Given the description of an element on the screen output the (x, y) to click on. 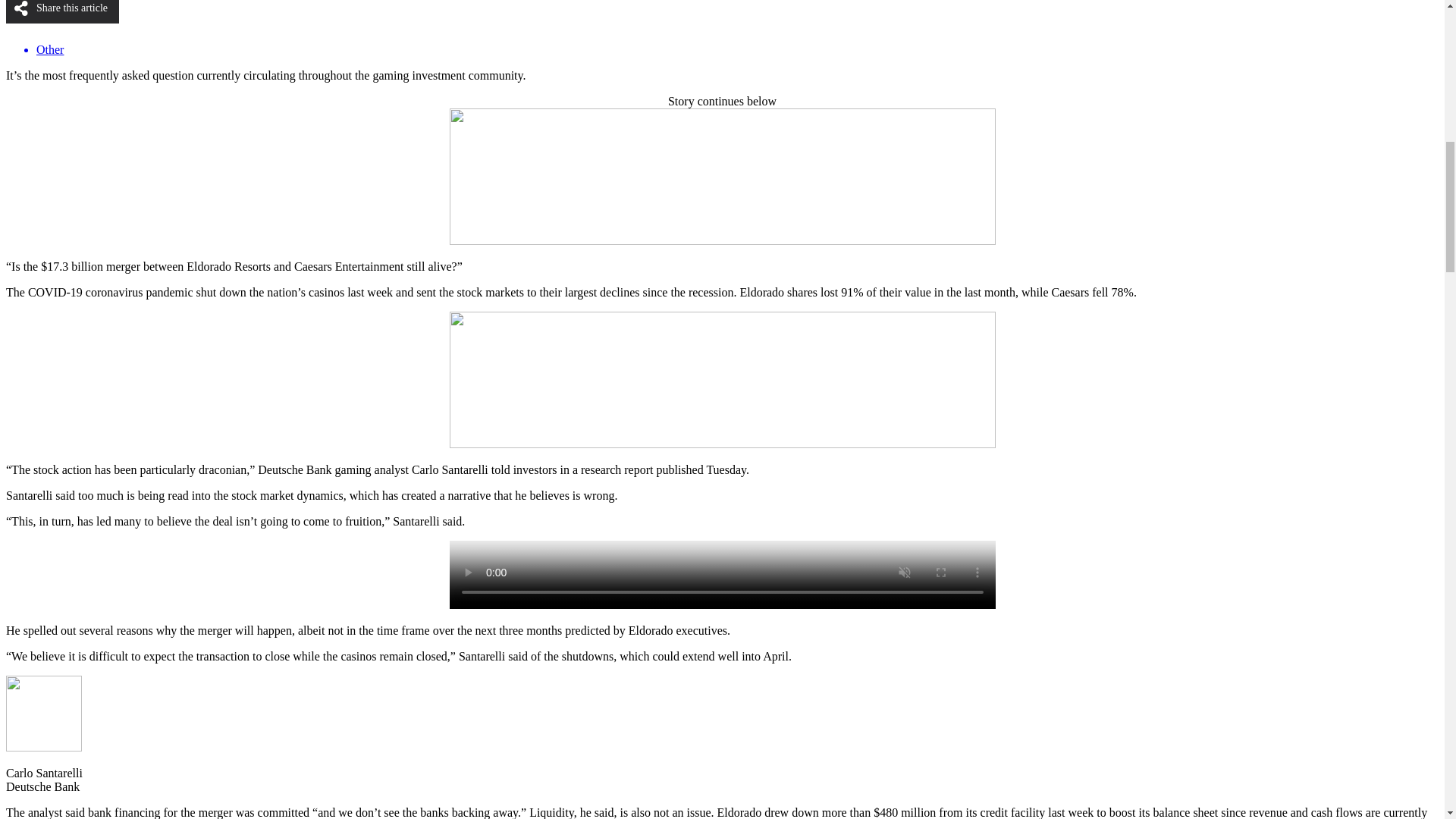
Share this article (62, 11)
